Given the description of an element on the screen output the (x, y) to click on. 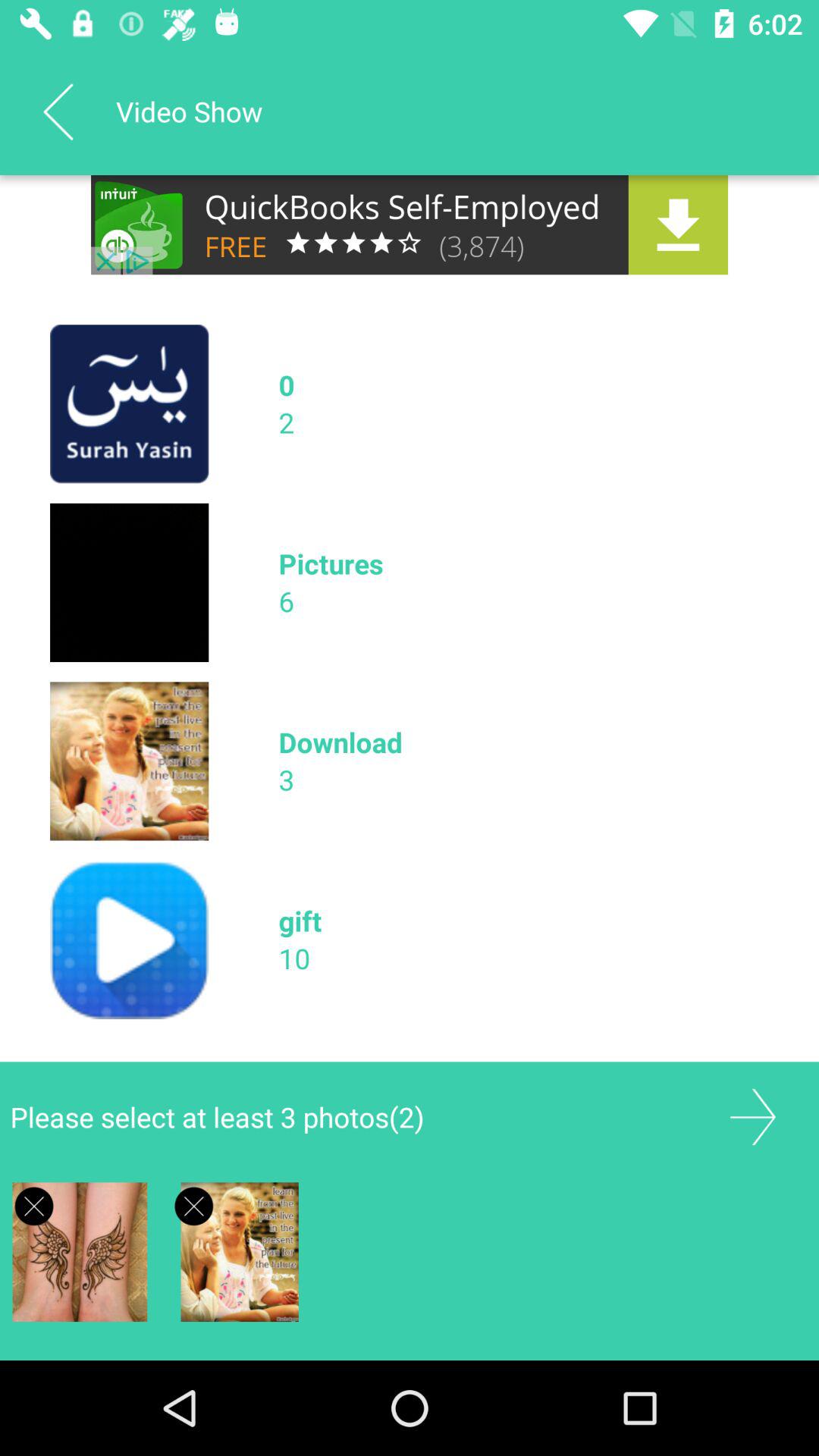
back (57, 111)
